Given the description of an element on the screen output the (x, y) to click on. 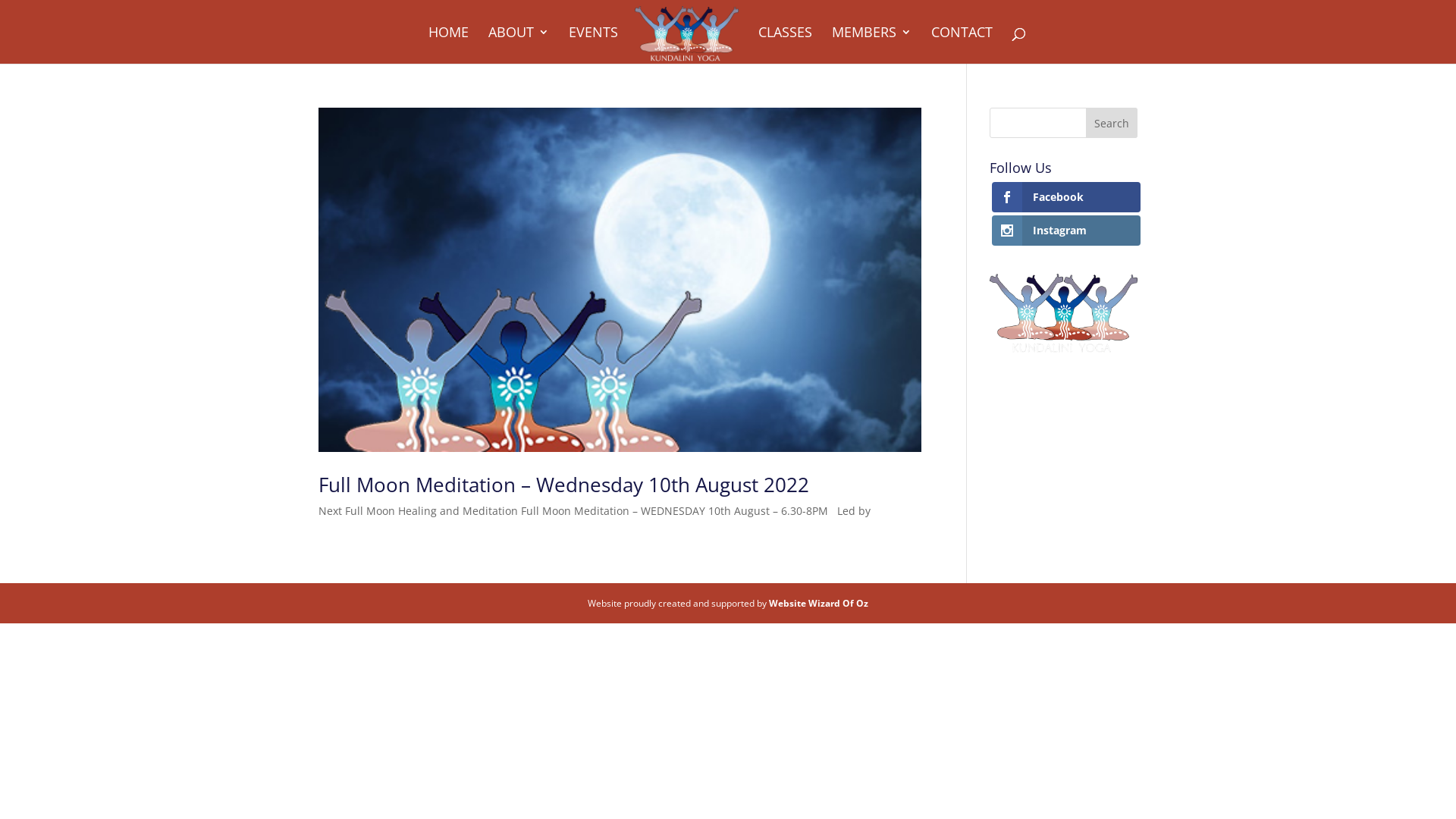
Facebook Element type: text (1065, 197)
CONTACT Element type: text (961, 44)
ABOUT Element type: text (518, 44)
CLASSES Element type: text (785, 44)
Search Element type: text (1111, 122)
EVENTS Element type: text (593, 44)
Instagram Element type: text (1065, 230)
MEMBERS Element type: text (871, 44)
Website Wizard Of Oz Element type: text (818, 602)
HOME Element type: text (448, 44)
